Given the description of an element on the screen output the (x, y) to click on. 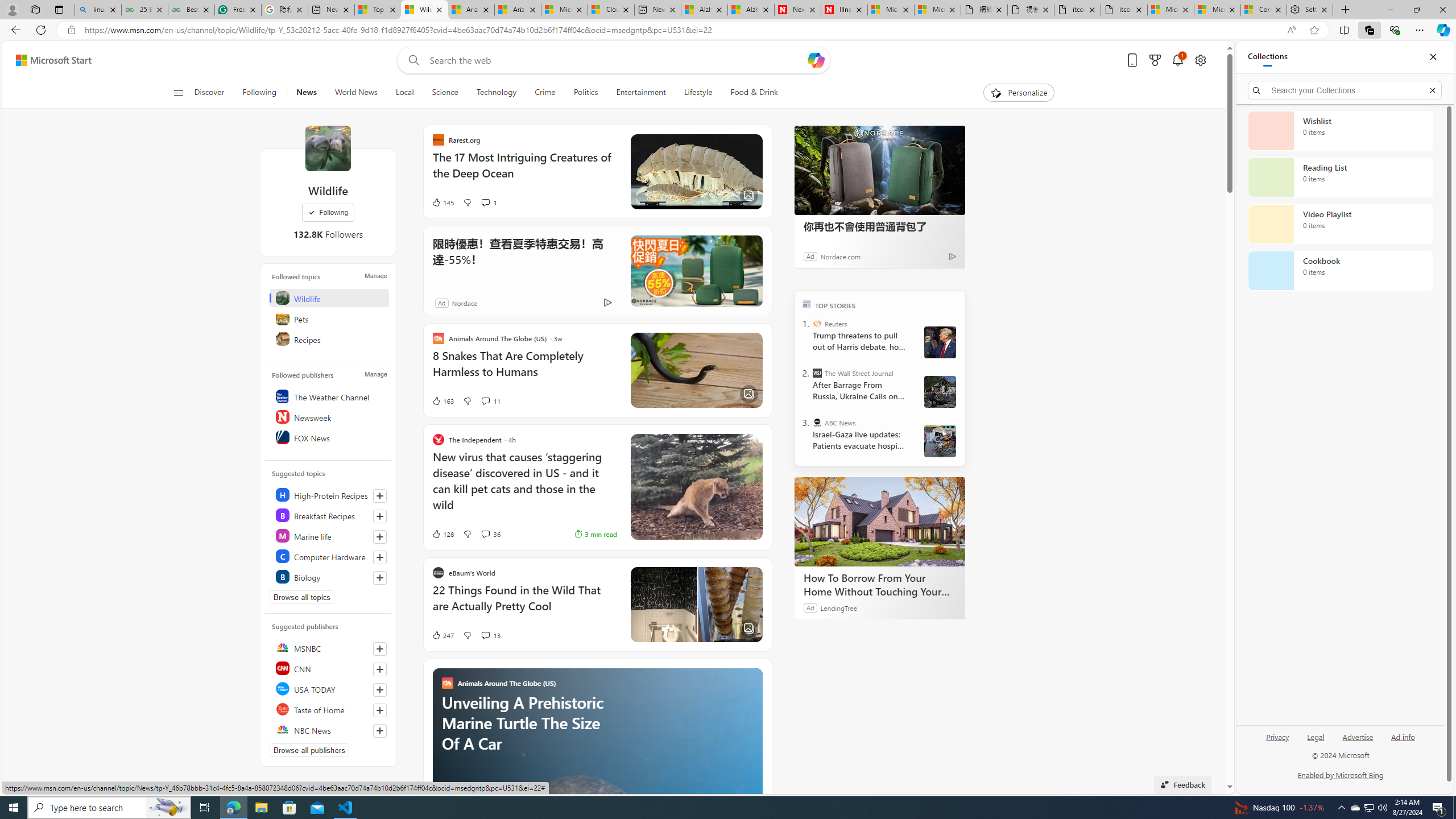
ABC News (816, 422)
USA TODAY (328, 688)
Cookbook collection, 0 items (1339, 270)
